Given the description of an element on the screen output the (x, y) to click on. 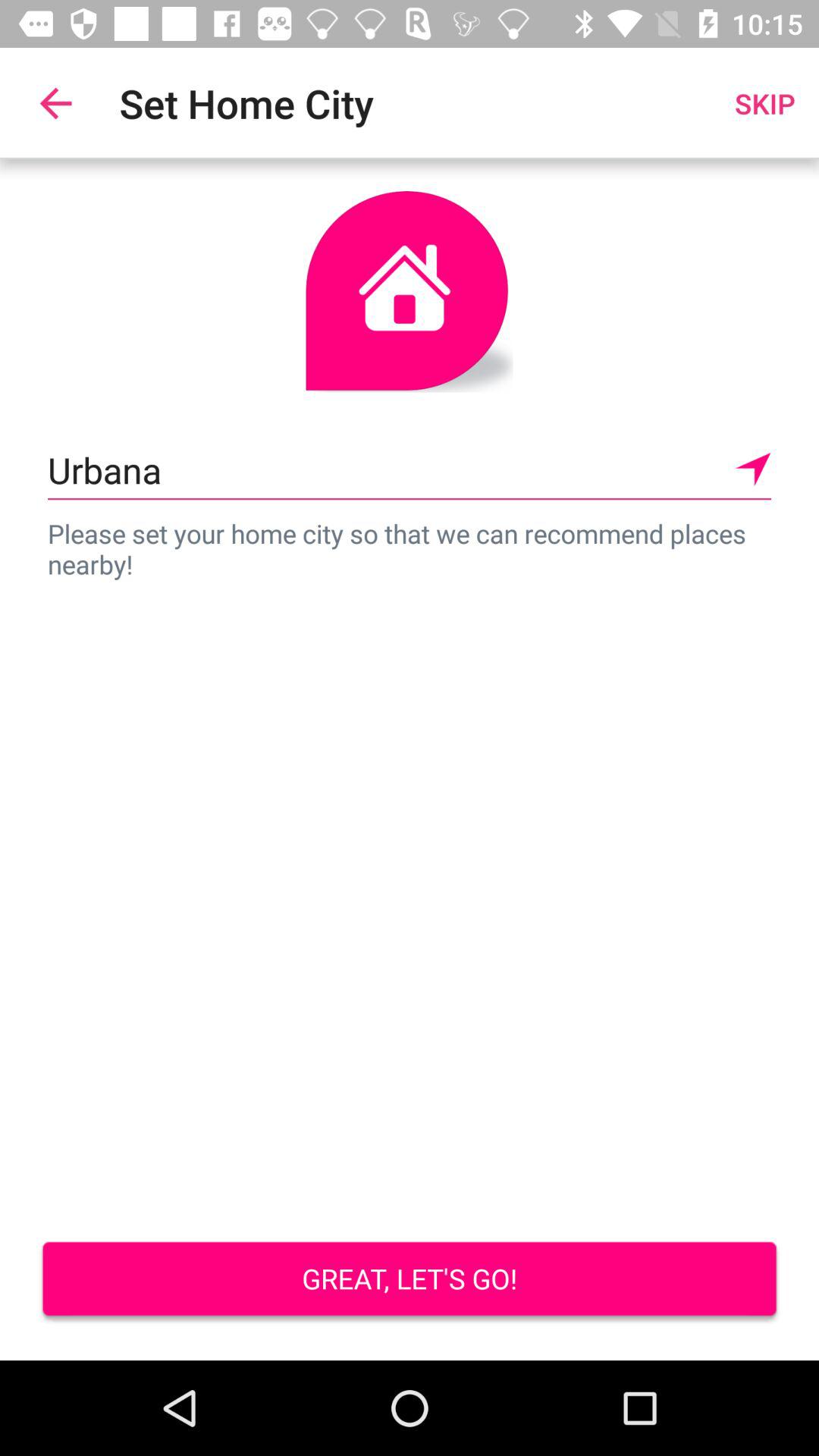
turn off great let s item (409, 1280)
